Given the description of an element on the screen output the (x, y) to click on. 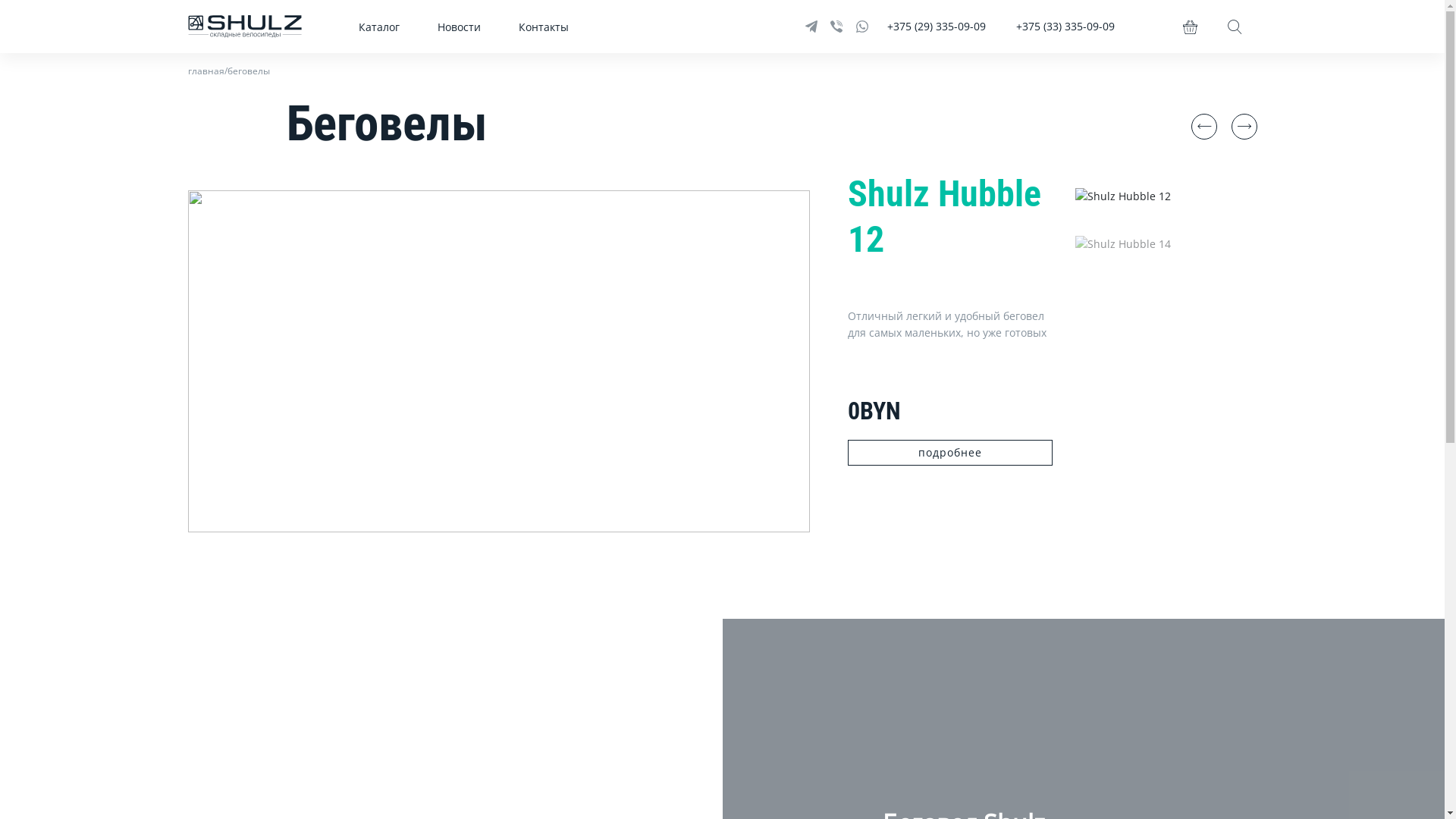
Shulz Hubble 12 Element type: hover (1122, 195)
Shulz Hubble 12 Element type: text (949, 216)
+375 (29) 335-09-09 Element type: text (936, 26)
+375 (33) 335-09-09 Element type: text (1065, 26)
Shulz Hubble 14 Element type: hover (1122, 243)
